Given the description of an element on the screen output the (x, y) to click on. 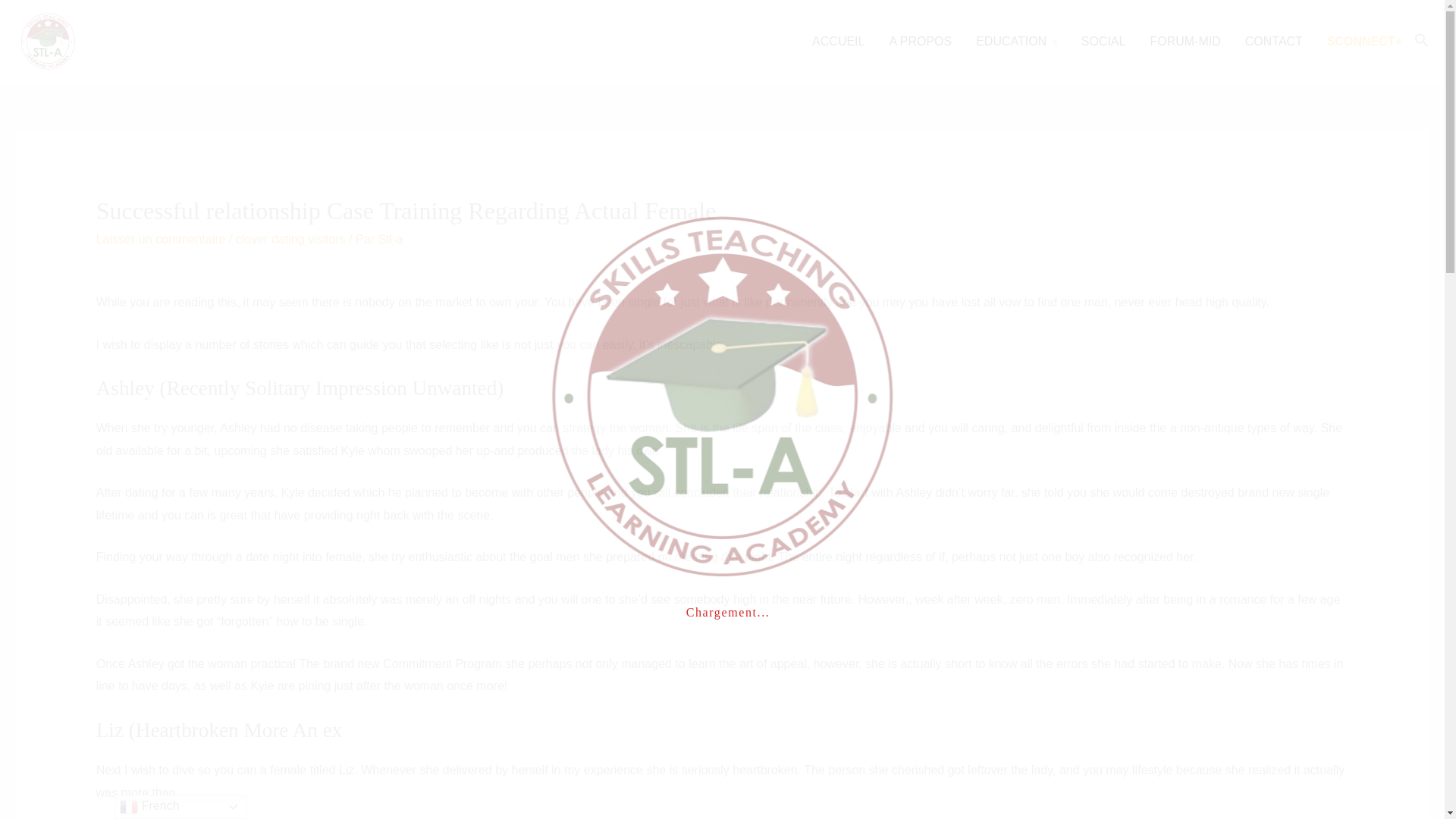
French (180, 806)
Voir toutes les publications de Stl-a (390, 238)
clover dating visitors (290, 238)
Laisser un commentaire (160, 238)
EDUCATION (1015, 41)
FORUM-MID (1184, 41)
A PROPOS (919, 41)
SOCIAL (1103, 41)
CONTACT (1273, 41)
Stl-a (390, 238)
